Given the description of an element on the screen output the (x, y) to click on. 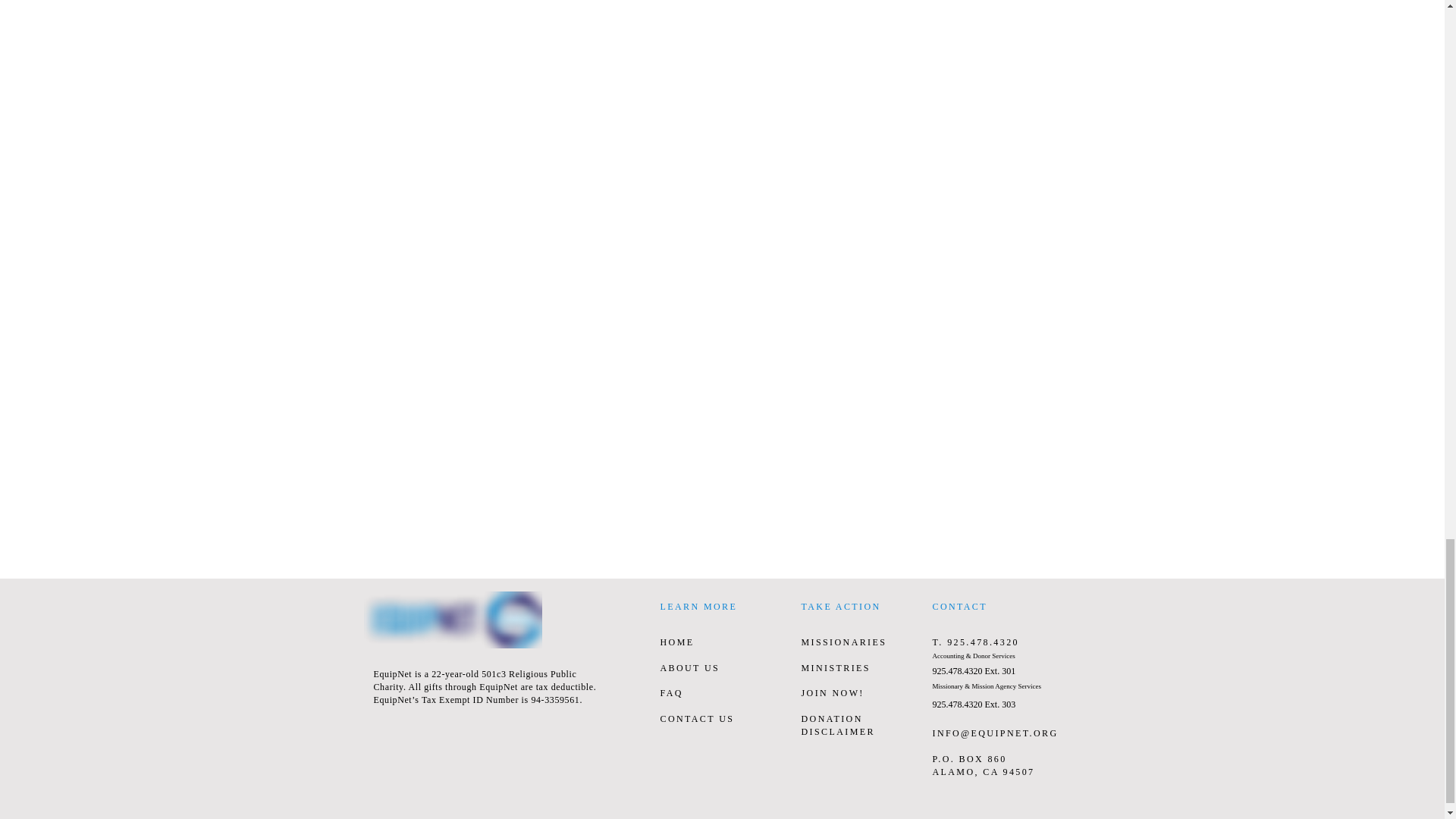
CONTACT US (696, 718)
MINISTRIES (834, 667)
HOME (676, 642)
DISCLAIMER (837, 731)
JOIN NOW! (831, 692)
DONATION (830, 718)
FAQ (670, 692)
ABOUT US (689, 667)
MISSIONARIES (843, 642)
